Given the description of an element on the screen output the (x, y) to click on. 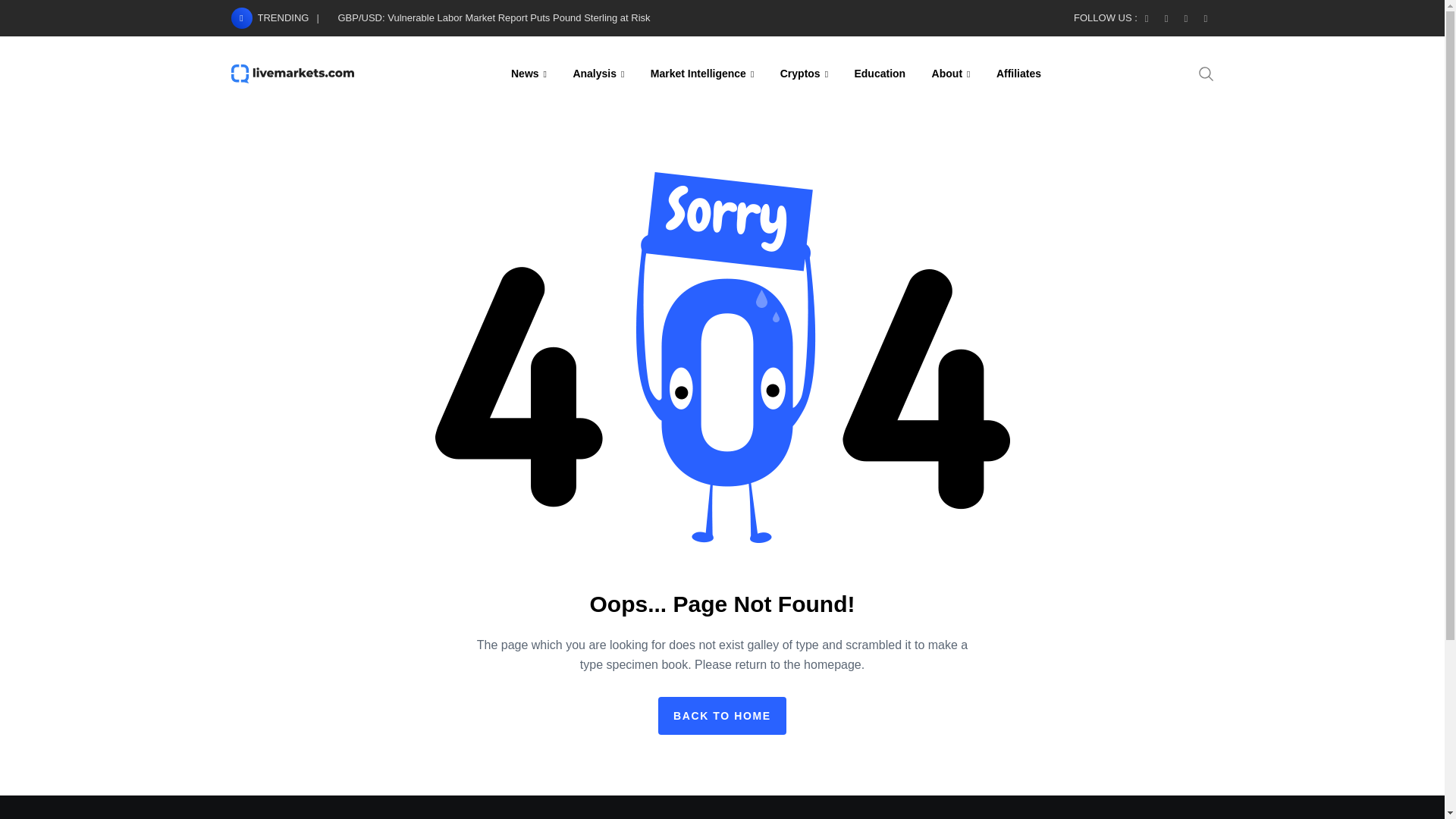
Affiliates (1018, 73)
Search (1205, 72)
Analysis (597, 73)
Cryptos (804, 73)
Market Intelligence (702, 73)
Education (880, 73)
